Given the description of an element on the screen output the (x, y) to click on. 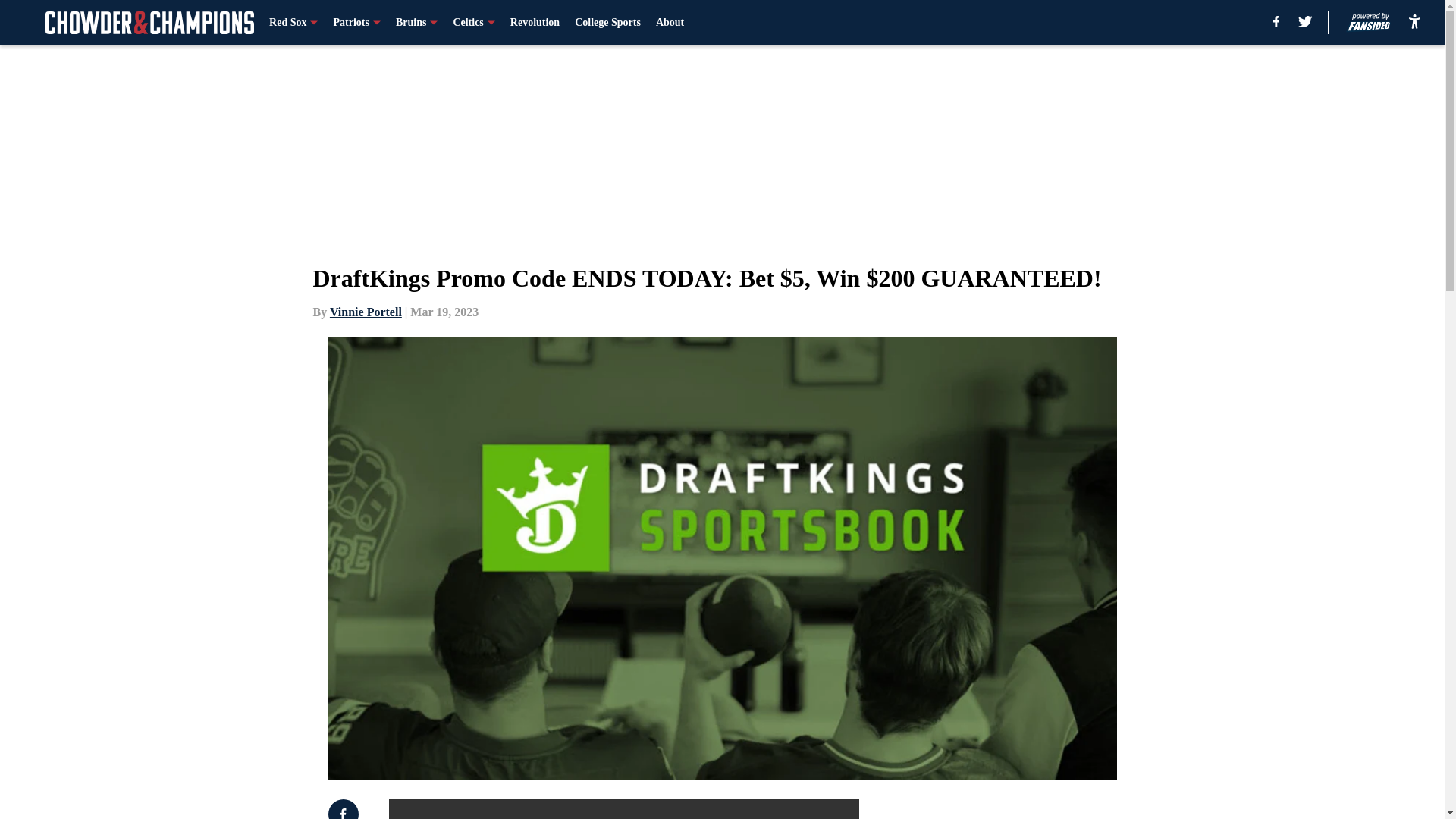
About (670, 22)
Revolution (535, 22)
College Sports (607, 22)
Vinnie Portell (365, 311)
